Given the description of an element on the screen output the (x, y) to click on. 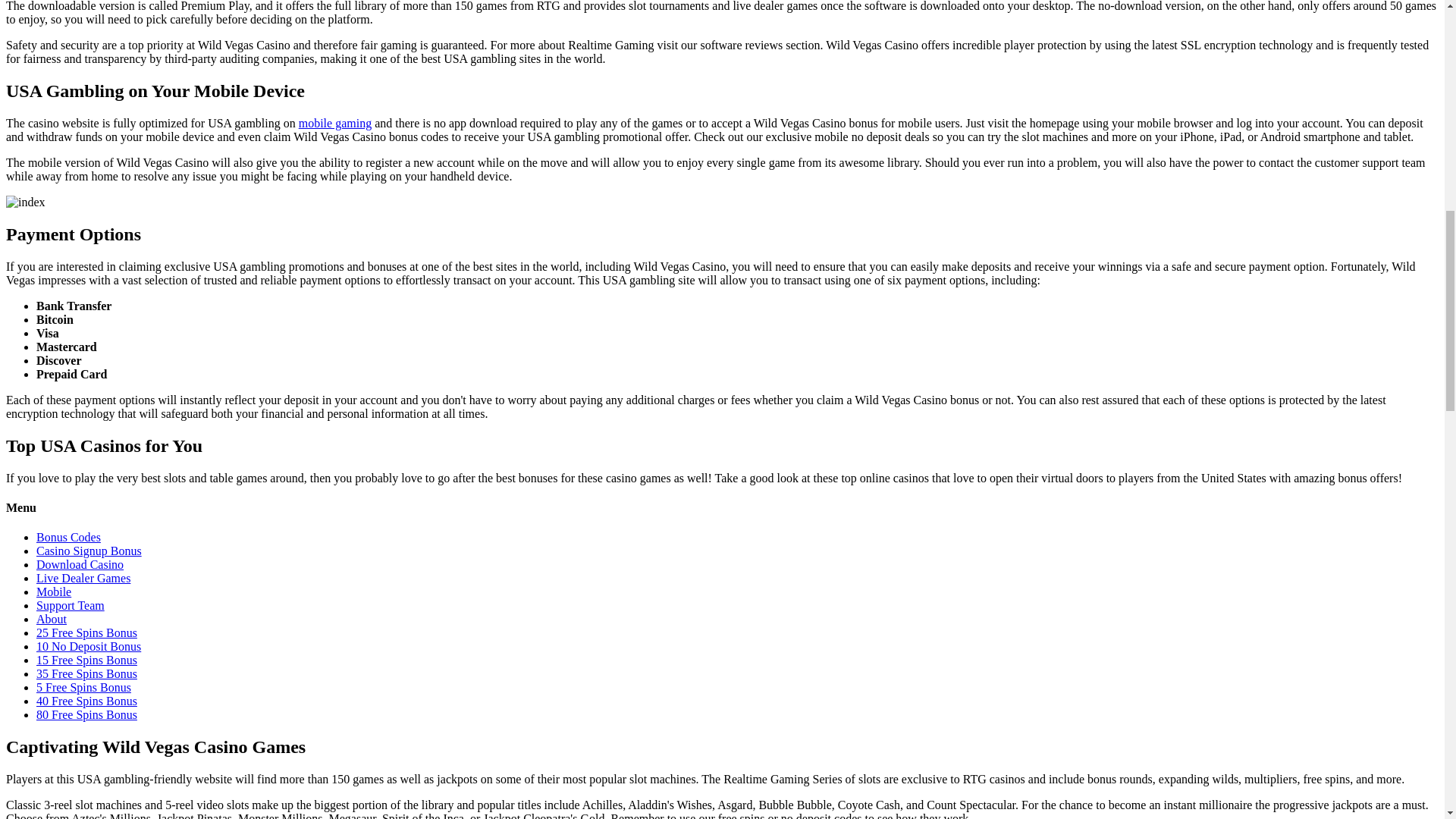
Support Team (70, 604)
Bonus Codes (68, 536)
80 Free Spins Bonus (86, 714)
15 Free Spins Bonus (86, 659)
About (51, 618)
10 No Deposit Bonus (88, 645)
Download Casino (79, 563)
35 Free Spins Bonus (86, 673)
Casino Signup Bonus (88, 550)
25 Free Spins Bonus (86, 632)
